Given the description of an element on the screen output the (x, y) to click on. 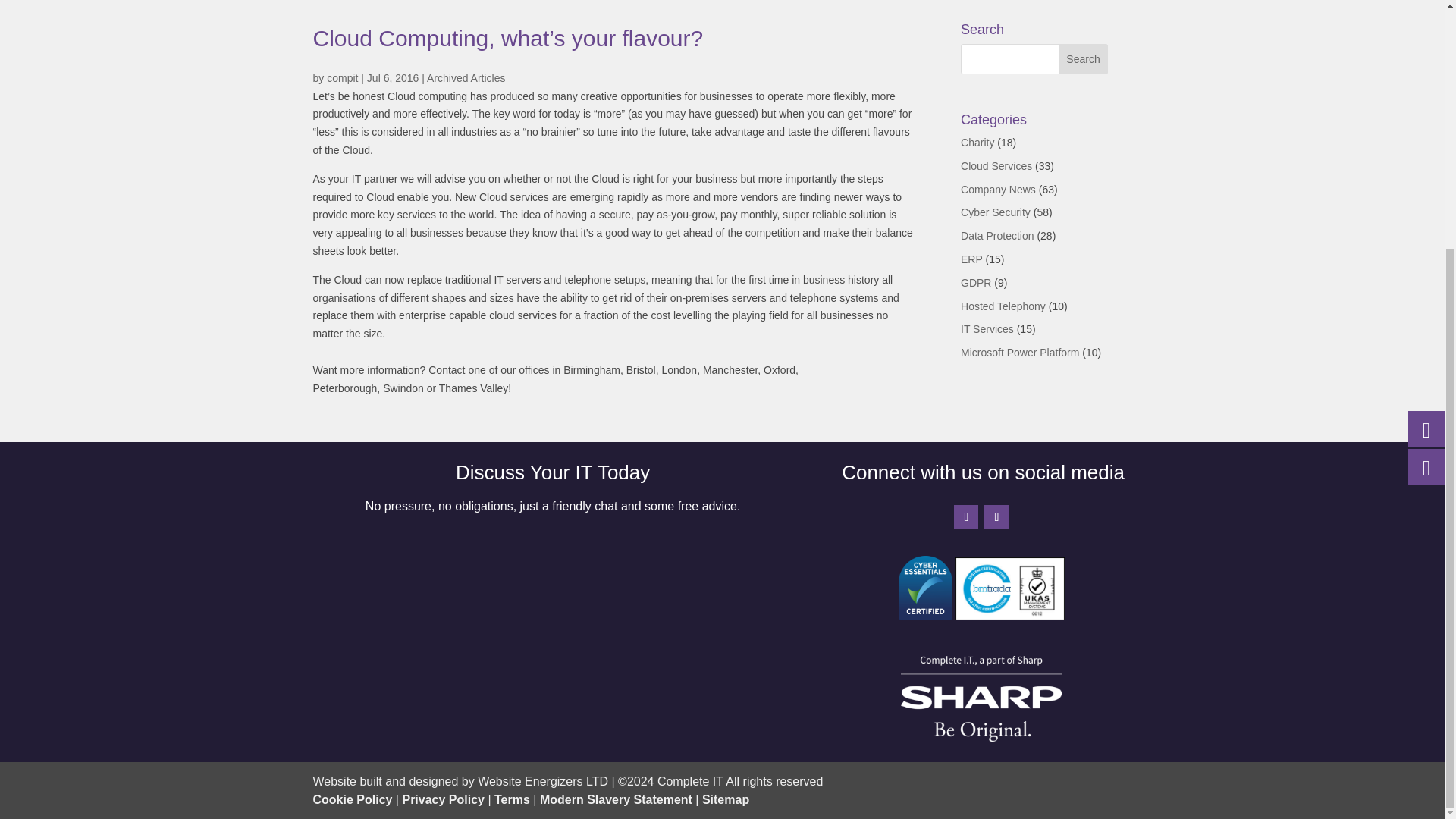
Search (1083, 59)
Follow on LinkedIn (965, 517)
Posts by compit (342, 78)
Follow on Youtube (996, 517)
